Given the description of an element on the screen output the (x, y) to click on. 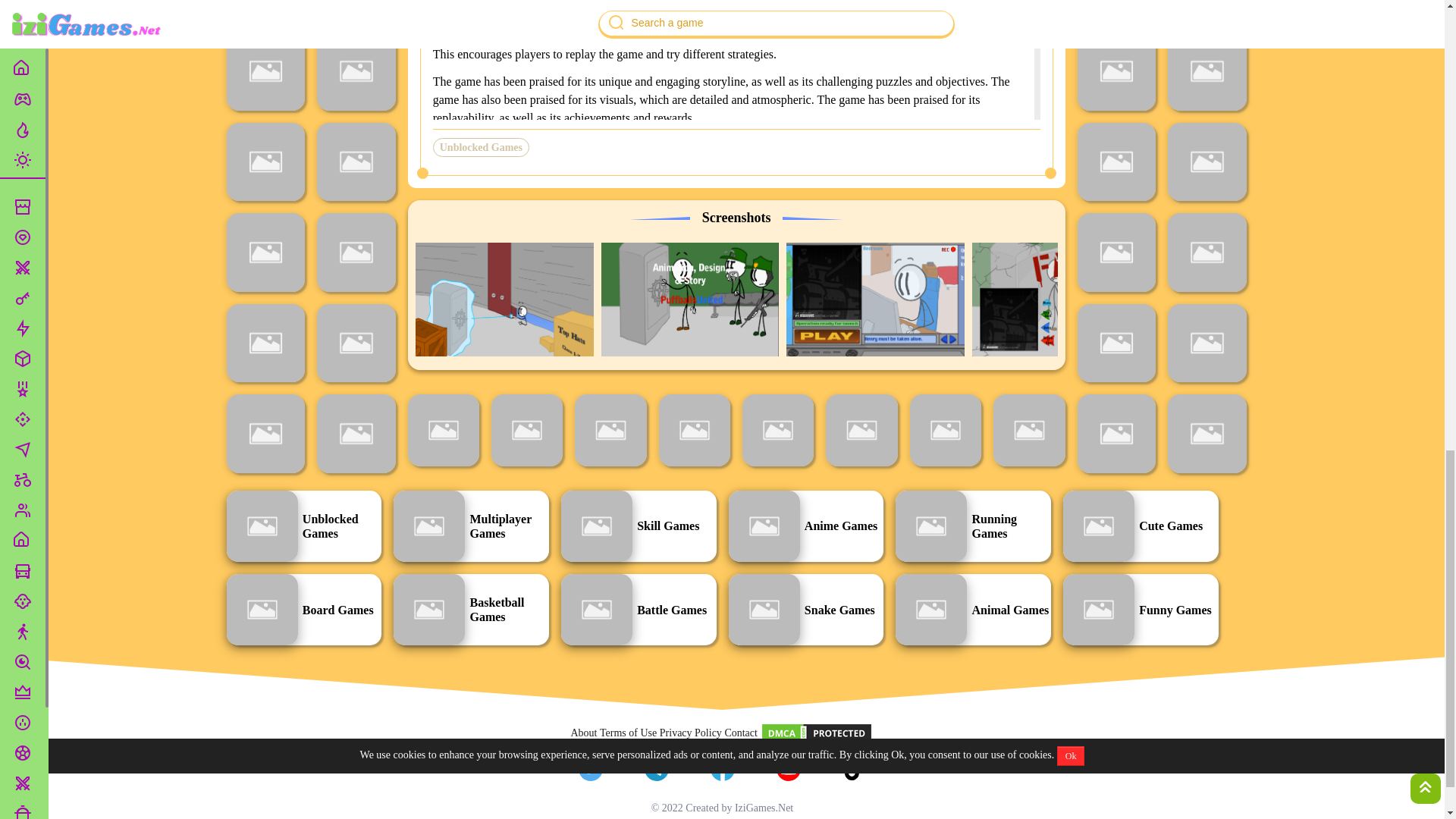
Privacy Policy (690, 732)
Running Games (973, 525)
Terms of Use (627, 732)
Snake Games (805, 609)
Skill Games (638, 525)
Board Games (303, 609)
Animal Games (973, 609)
Funny Games (1140, 609)
Anime Games (805, 525)
Battle Games (638, 609)
Contact (740, 732)
Basketball Games (470, 609)
Multiplayer Games (470, 525)
Unblocked Games (303, 525)
Cute Games (1140, 525)
